Given the description of an element on the screen output the (x, y) to click on. 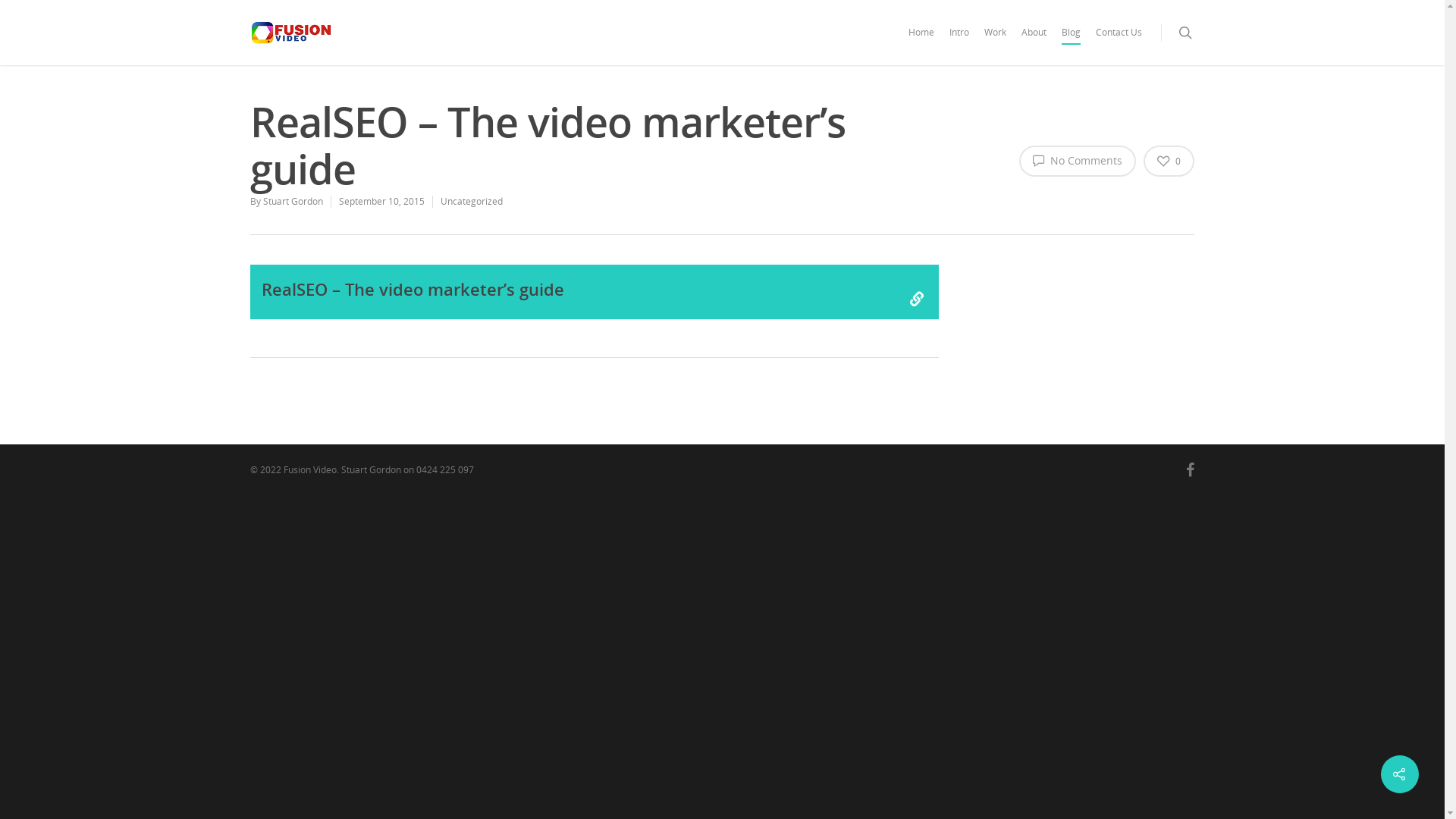
Home Element type: text (921, 43)
Intro Element type: text (959, 43)
About Element type: text (1033, 43)
Link Element type: hover (916, 298)
Contact Us Element type: text (1118, 43)
0 Element type: text (1168, 160)
Blog Element type: text (1070, 43)
Work Element type: text (995, 43)
No Comments Element type: text (1077, 160)
Uncategorized Element type: text (471, 200)
Stuart Gordon Element type: text (293, 200)
